Given the description of an element on the screen output the (x, y) to click on. 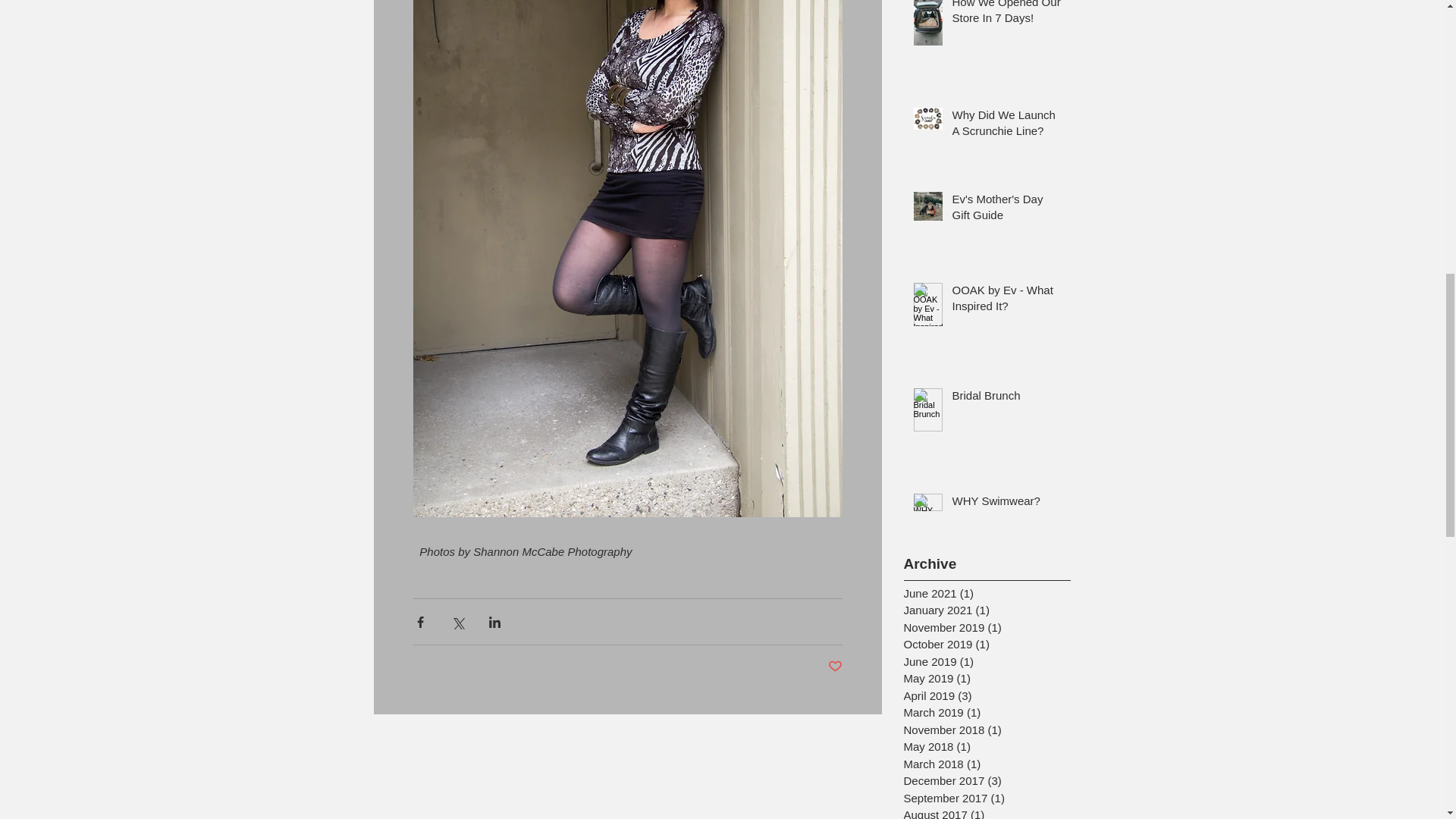
Why Did We Launch A Scrunchie Line? (1006, 125)
How We Opened Our Store In 7 Days! (1006, 15)
Post not marked as liked (835, 666)
Ev's Mother's Day Gift Guide (1006, 209)
